Given the description of an element on the screen output the (x, y) to click on. 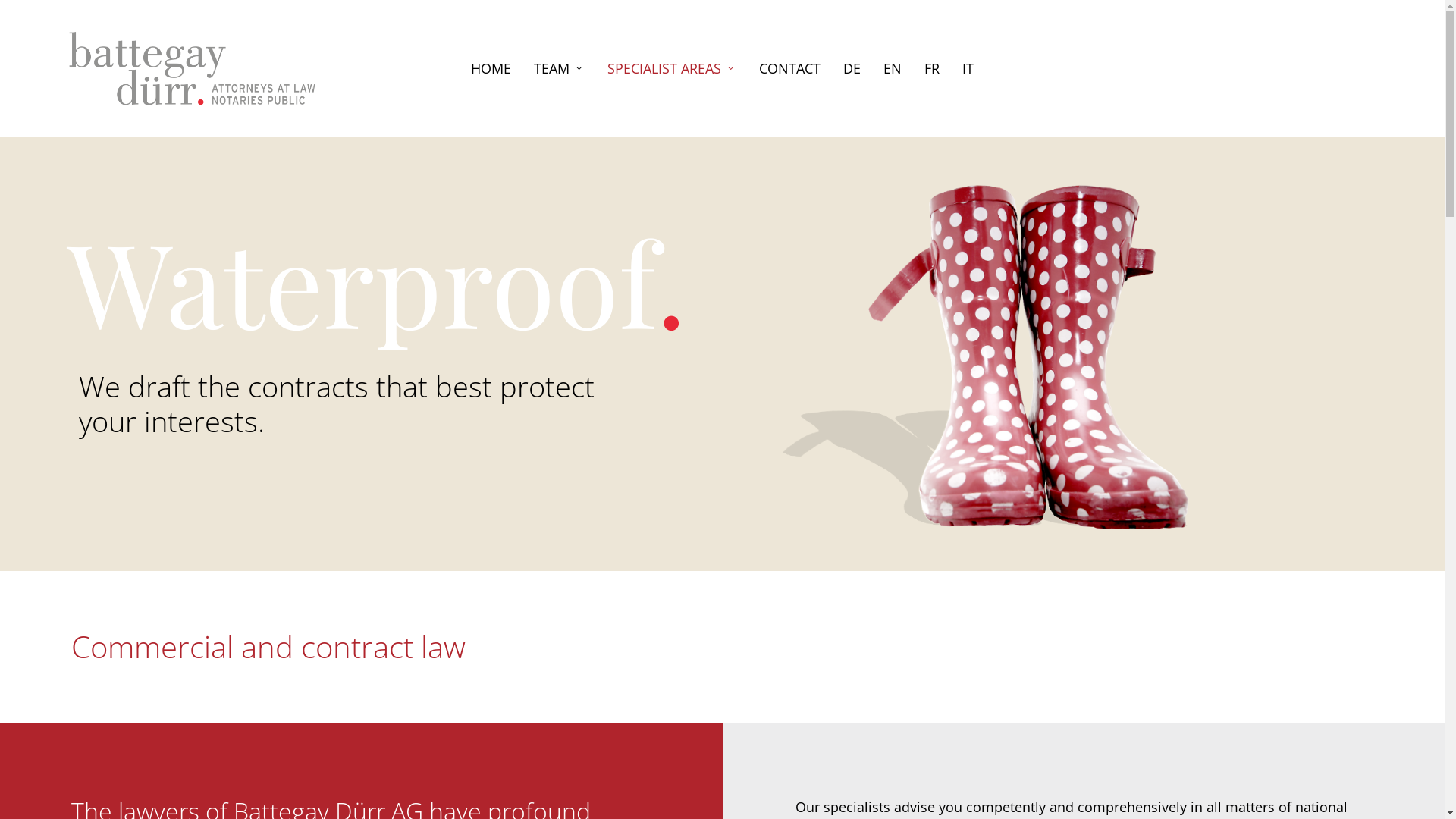
TEAM Element type: text (559, 68)
EN Element type: text (892, 68)
CONTACT Element type: text (789, 68)
IT Element type: text (967, 68)
DE Element type: text (851, 68)
HOME Element type: text (490, 68)
FR Element type: text (931, 68)
SPECIALIST AREAS Element type: text (671, 68)
